Given the description of an element on the screen output the (x, y) to click on. 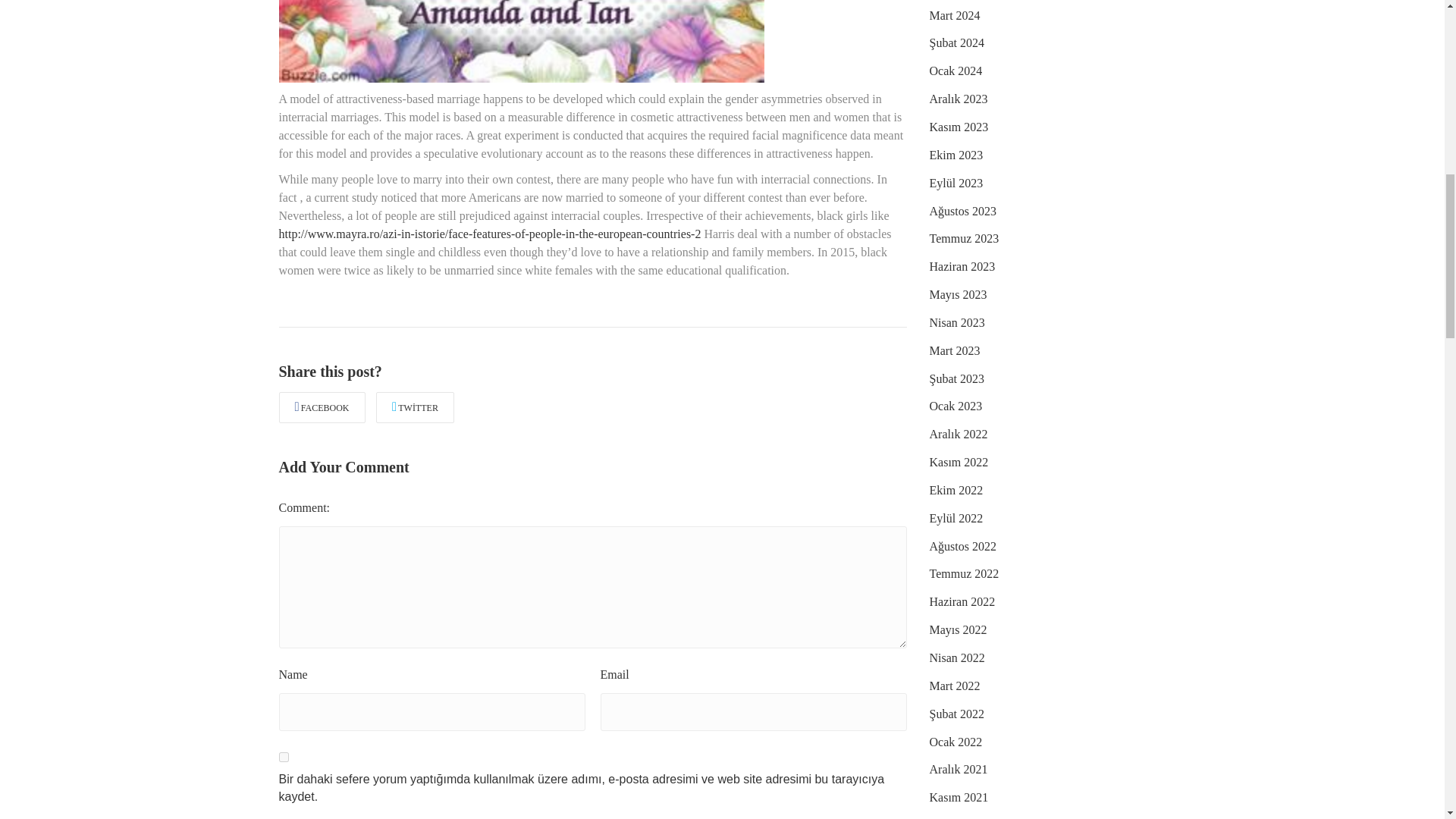
Share On Facebook (322, 407)
Haziran 2023 (962, 267)
FACEBOOK (322, 407)
Temmuz 2023 (964, 239)
Mart 2024 (954, 16)
yes (283, 757)
Ekim 2023 (957, 155)
Share On Twitter (414, 407)
TWITTER (414, 407)
Ocak 2024 (956, 71)
